Given the description of an element on the screen output the (x, y) to click on. 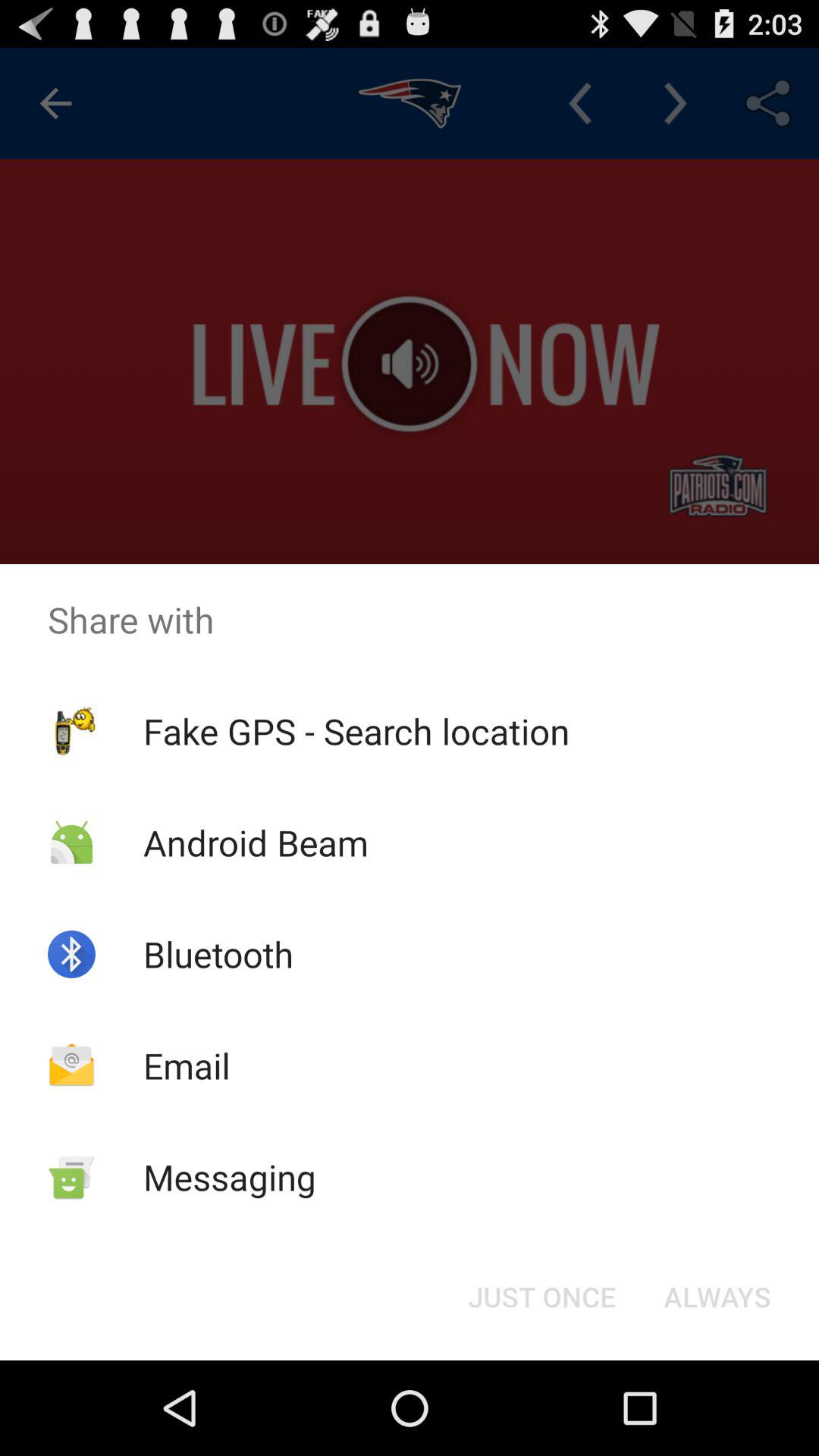
open item above the email item (218, 953)
